Given the description of an element on the screen output the (x, y) to click on. 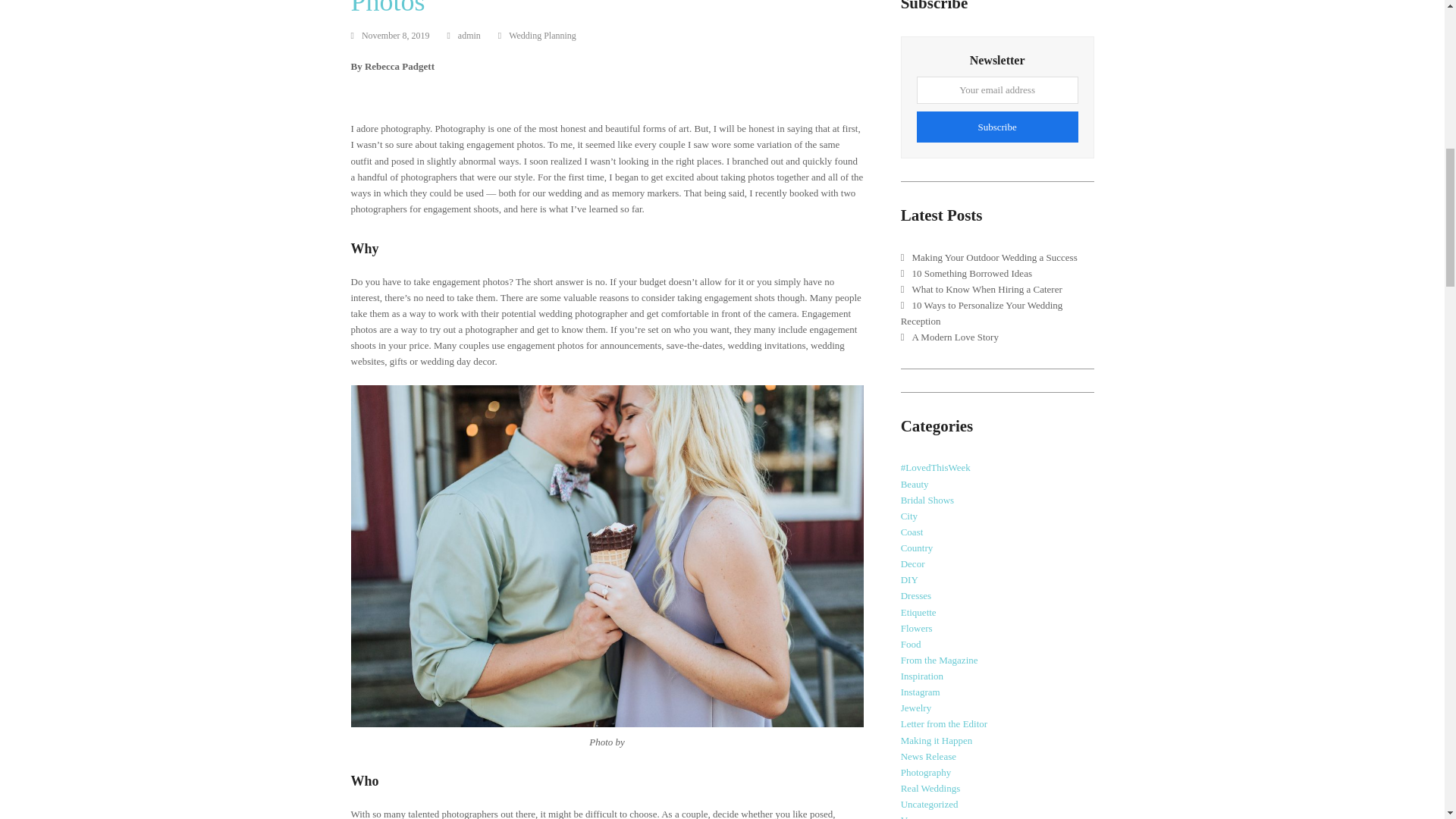
admin (469, 35)
Posts by admin (469, 35)
Wedding Planning (542, 35)
